Given the description of an element on the screen output the (x, y) to click on. 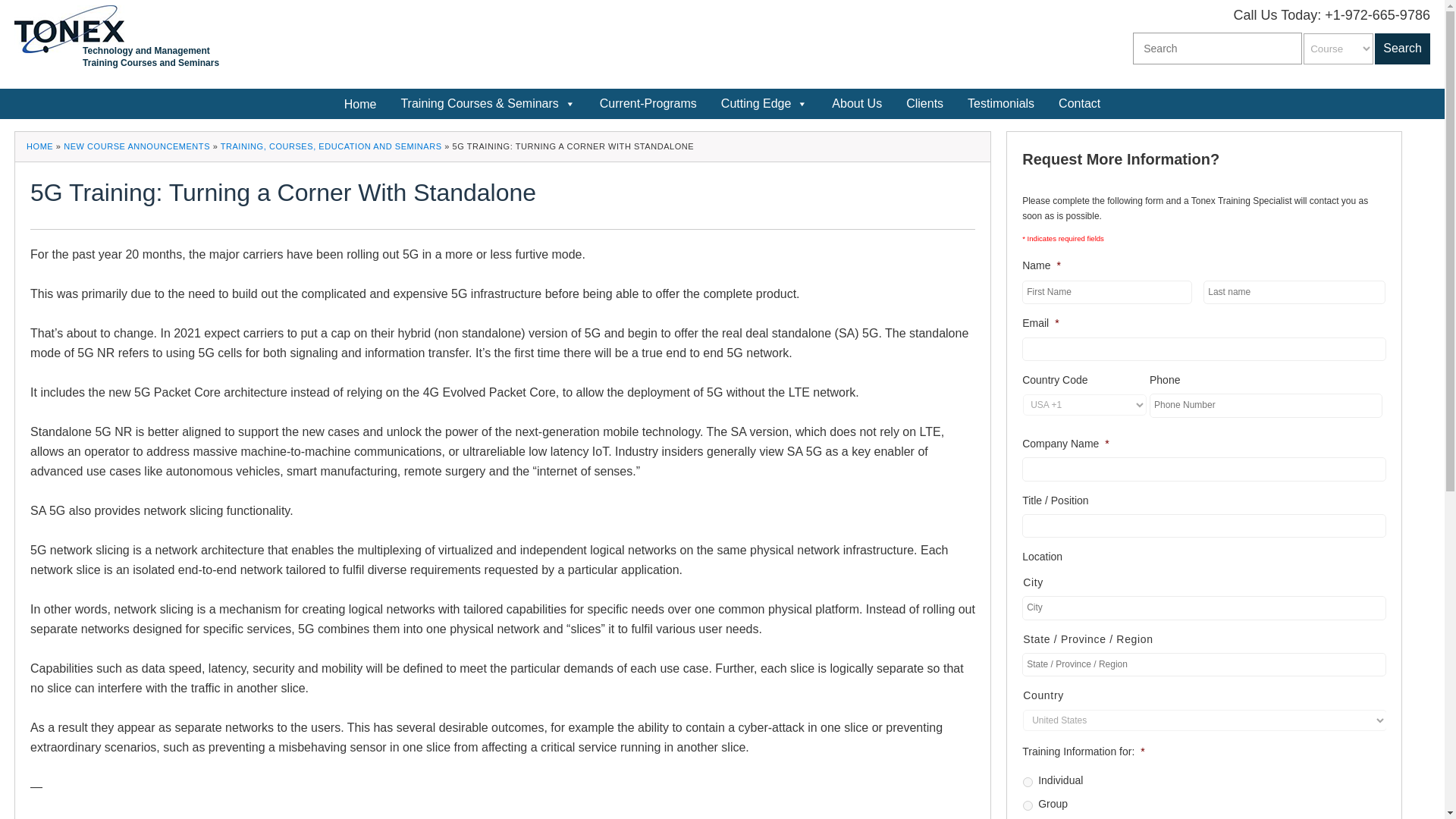
Home (359, 103)
Search (1401, 48)
Search (1401, 48)
Tonex Training (68, 28)
